Given the description of an element on the screen output the (x, y) to click on. 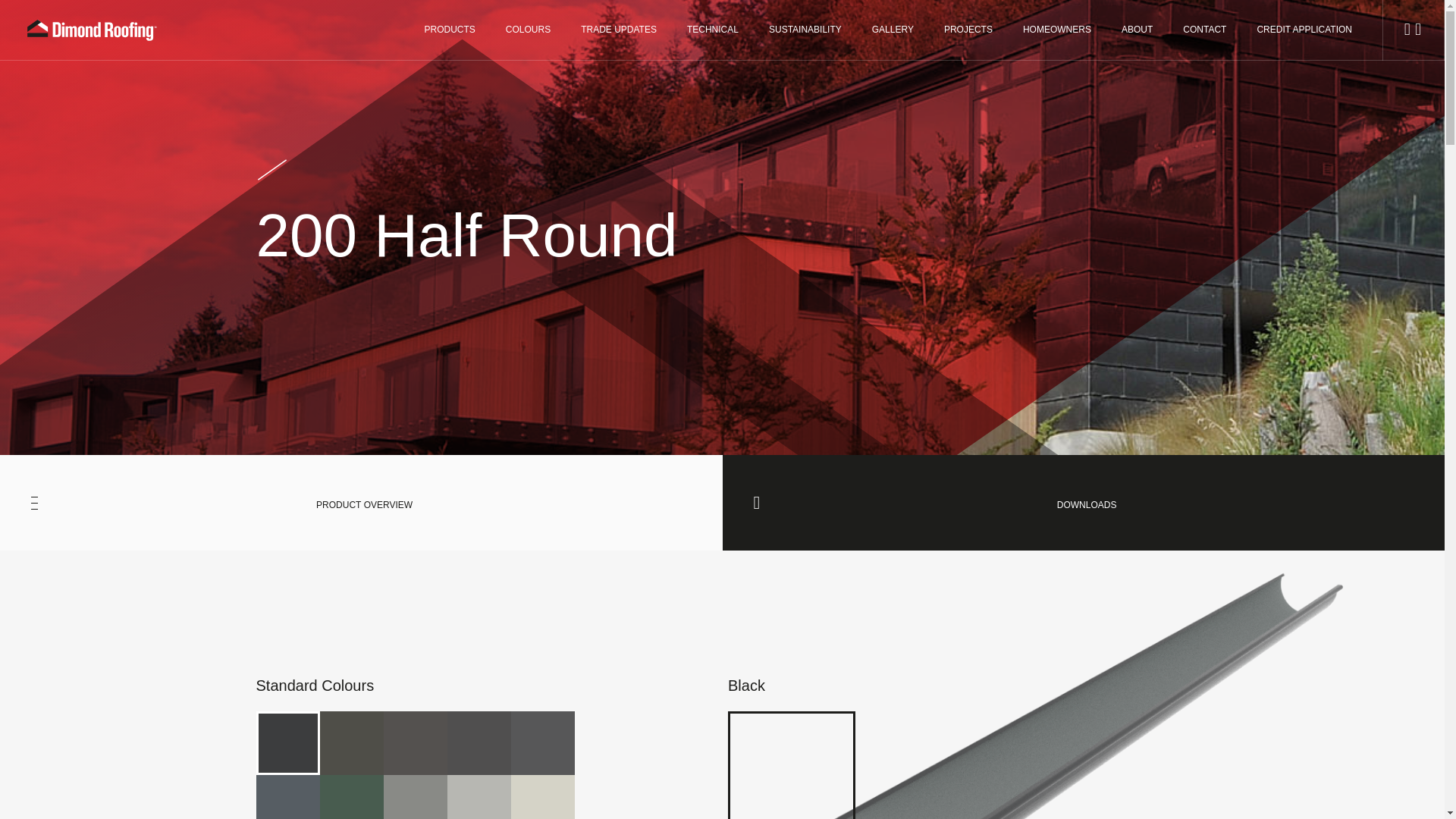
Slate (478, 742)
Ironsand (415, 742)
Karaka (352, 742)
Titania (543, 796)
Gull Grey (478, 796)
Black (288, 742)
Permanent Green (352, 796)
PRODUCTS (449, 30)
New Denim Blue (288, 796)
Sandstone Grey (415, 796)
Grey Friars (543, 742)
